Given the description of an element on the screen output the (x, y) to click on. 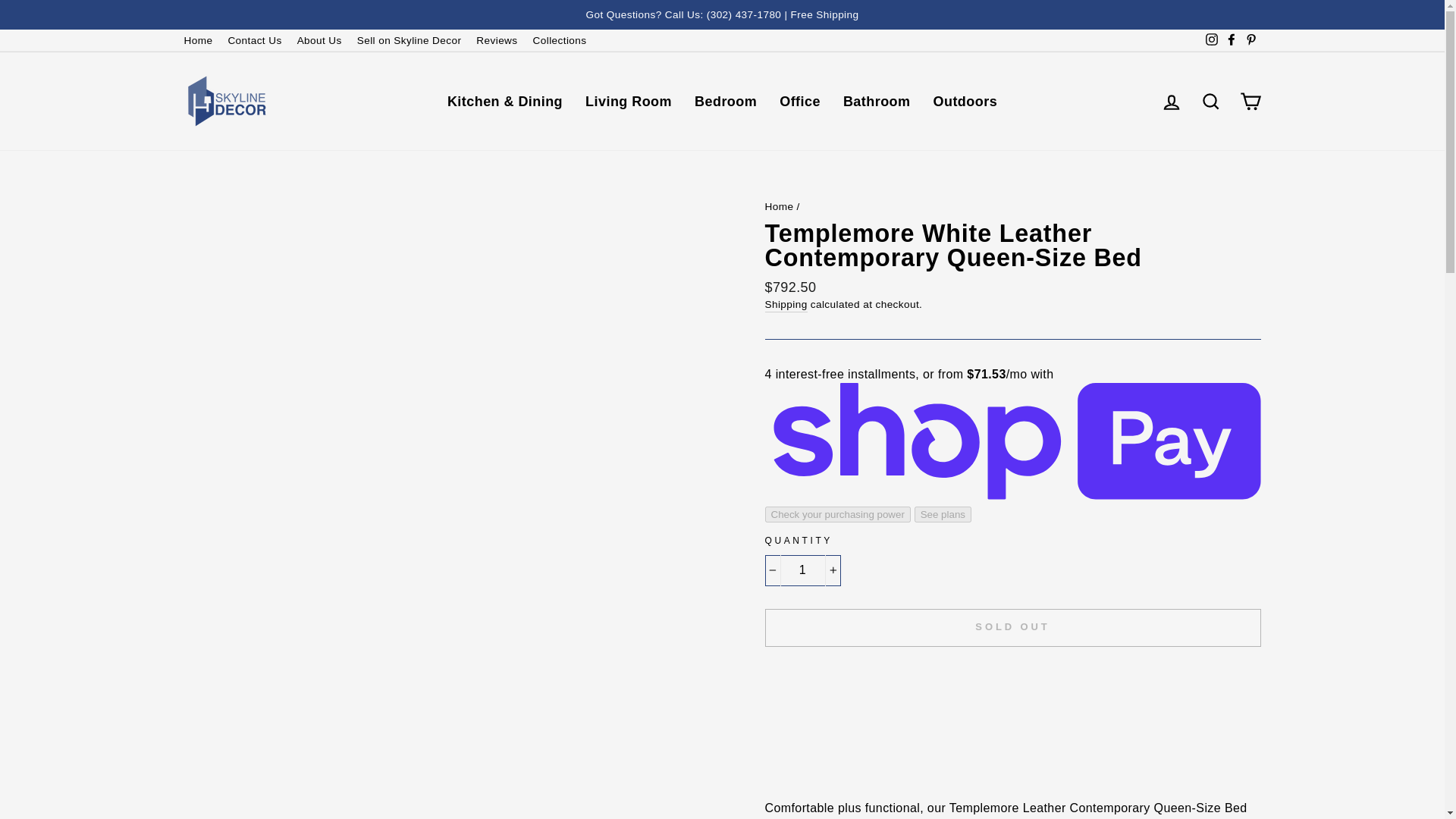
Contact Us (253, 40)
SKYLINE DECOR on Pinterest (1250, 40)
Back to the frontpage (778, 206)
SKYLINE DECOR on Instagram (1211, 40)
About Us (319, 40)
Home (197, 40)
SKYLINE DECOR on Facebook (1230, 40)
1 (802, 570)
Sell on Skyline Decor (408, 40)
